Given the description of an element on the screen output the (x, y) to click on. 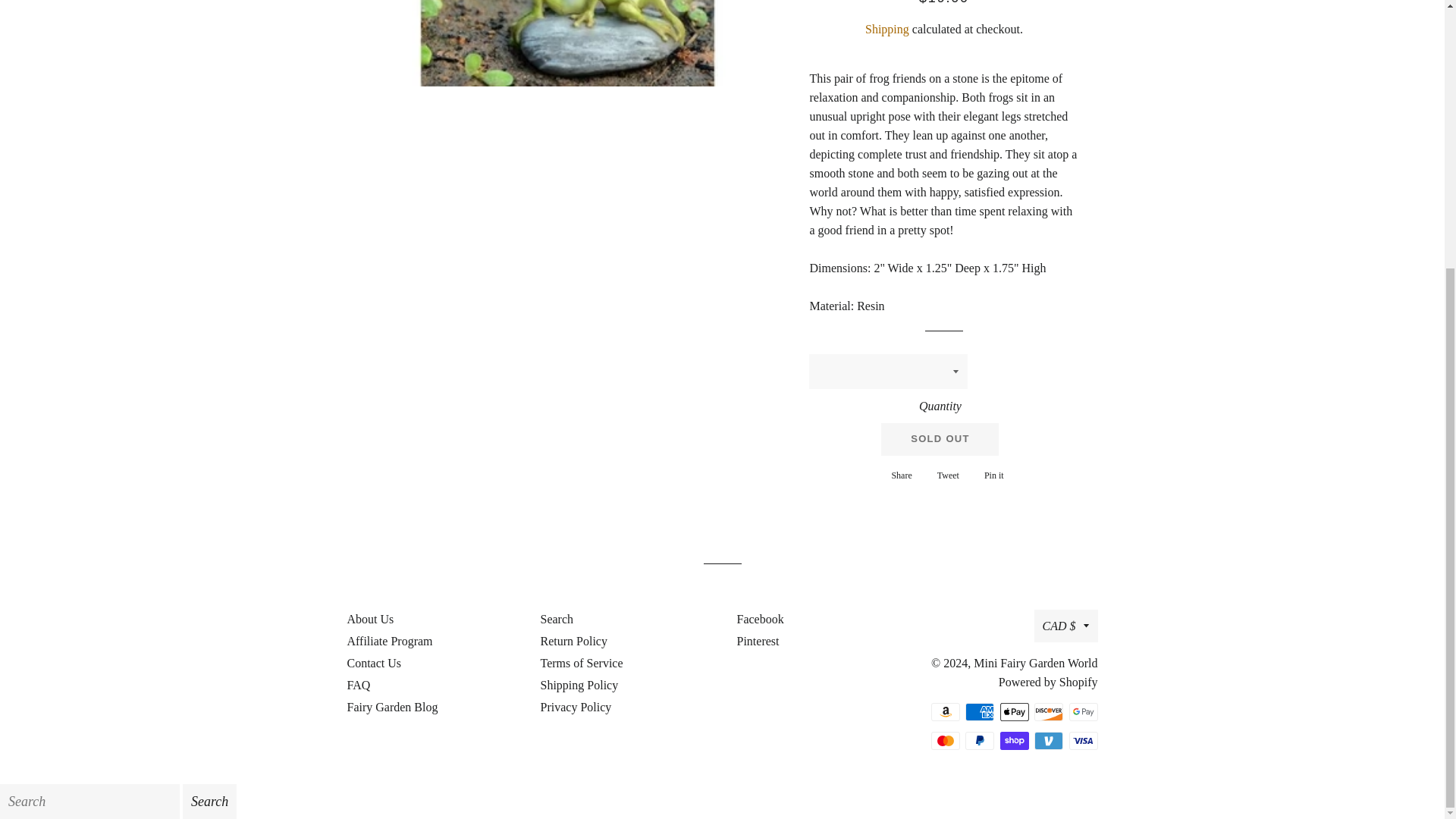
Search (556, 618)
Google Pay (1082, 711)
Mini Fairy Garden World on Facebook (758, 618)
Mini Fairy Garden World on Pinterest (944, 475)
Apple Pay (755, 640)
Amazon (1012, 711)
PayPal (945, 711)
Shipping (979, 741)
Tweet on Twitter (886, 29)
Mastercard (944, 475)
American Express (945, 741)
Contact Us (990, 475)
Fairy Garden Blog (979, 711)
